Given the description of an element on the screen output the (x, y) to click on. 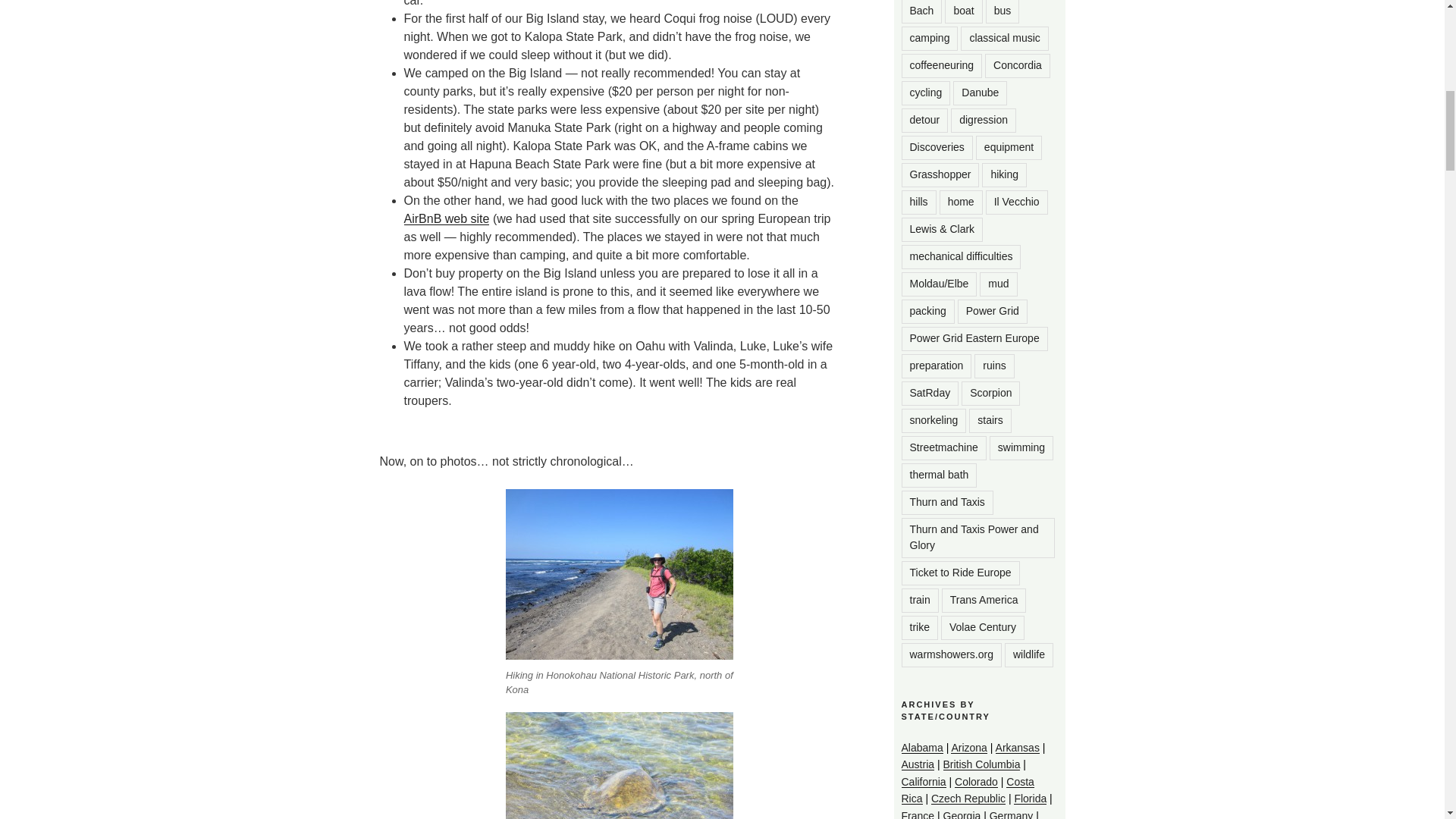
AirBnB web site (446, 218)
